Given the description of an element on the screen output the (x, y) to click on. 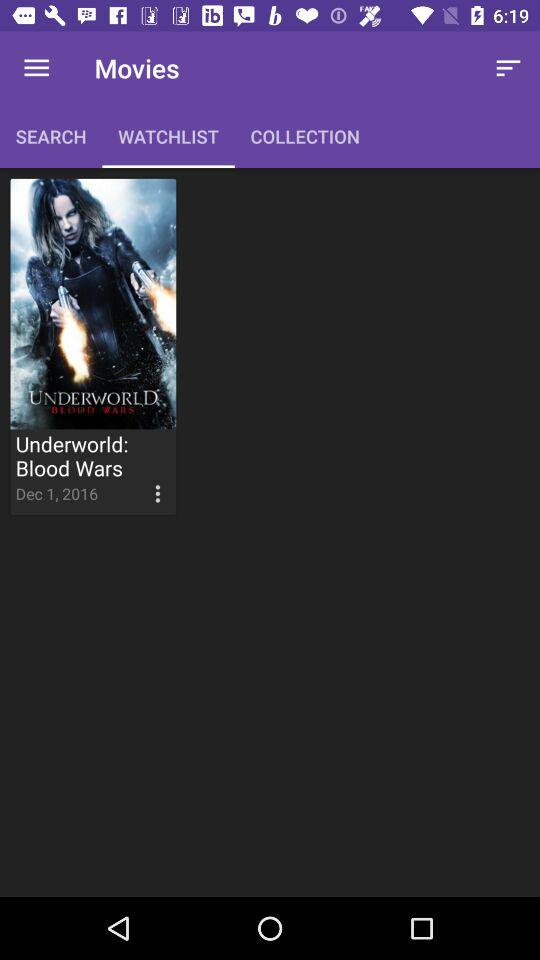
turn on the item next to the movies (36, 68)
